Given the description of an element on the screen output the (x, y) to click on. 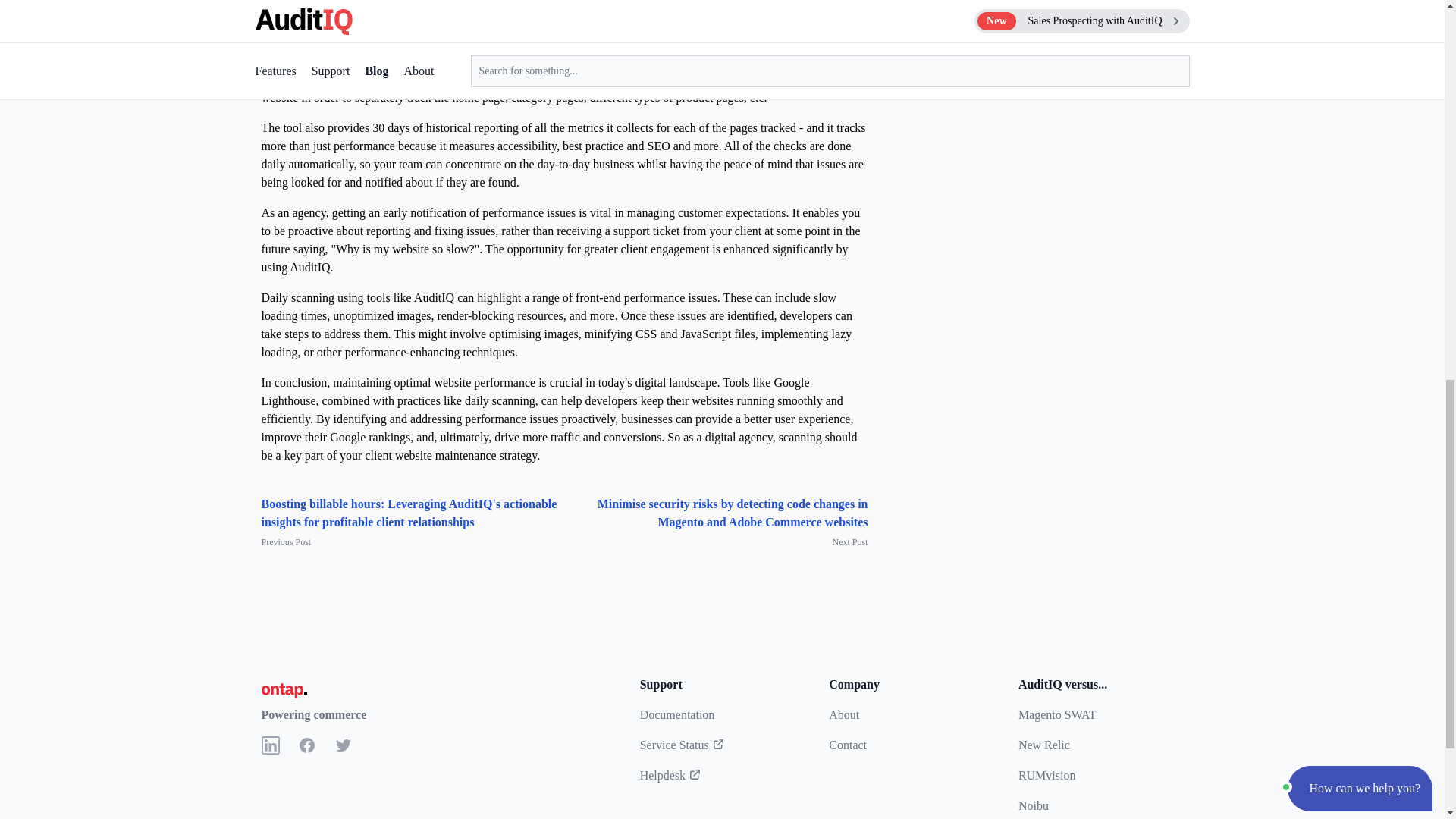
RUMvision (1046, 775)
AuditIQ (328, 30)
Twitter (342, 745)
Contact (847, 744)
Google Lighthouse (378, 78)
AuditIQ (282, 78)
Facebook (306, 745)
New Relic (1043, 744)
LinkedIn (269, 745)
About (843, 714)
Noibu (1032, 805)
Helpdesk (670, 775)
